Given the description of an element on the screen output the (x, y) to click on. 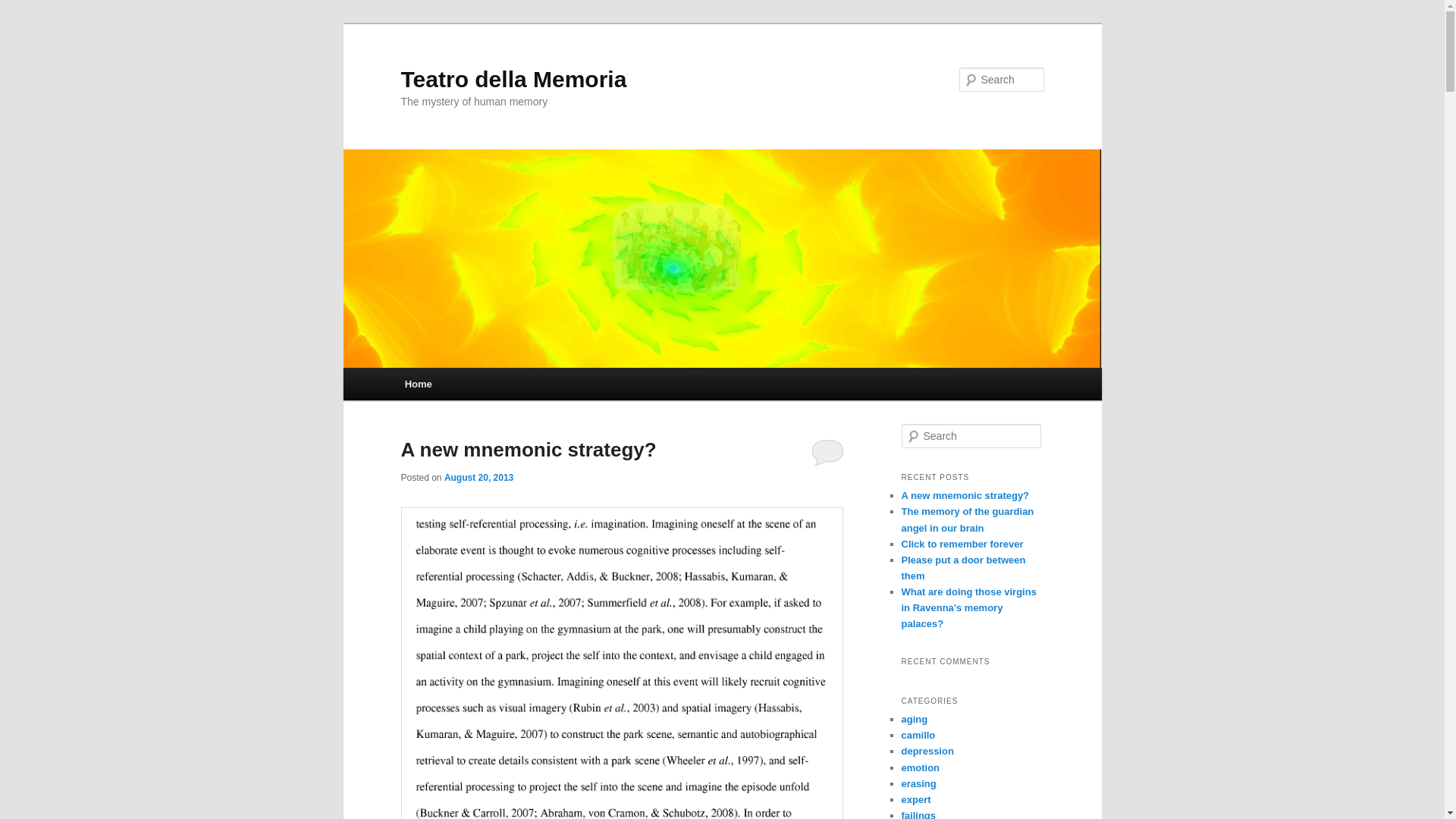
August 20, 2013 (478, 477)
Skip to primary content (472, 386)
6:14 pm (478, 477)
Teatro della Memoria (513, 78)
Search (24, 8)
Skip to primary content (472, 386)
Teatro della Memoria (513, 78)
Skip to secondary content (479, 386)
Permalink to A new mnemonic strategy? (528, 449)
Skip to secondary content (479, 386)
Home (418, 383)
A new mnemonic strategy? (528, 449)
